Given the description of an element on the screen output the (x, y) to click on. 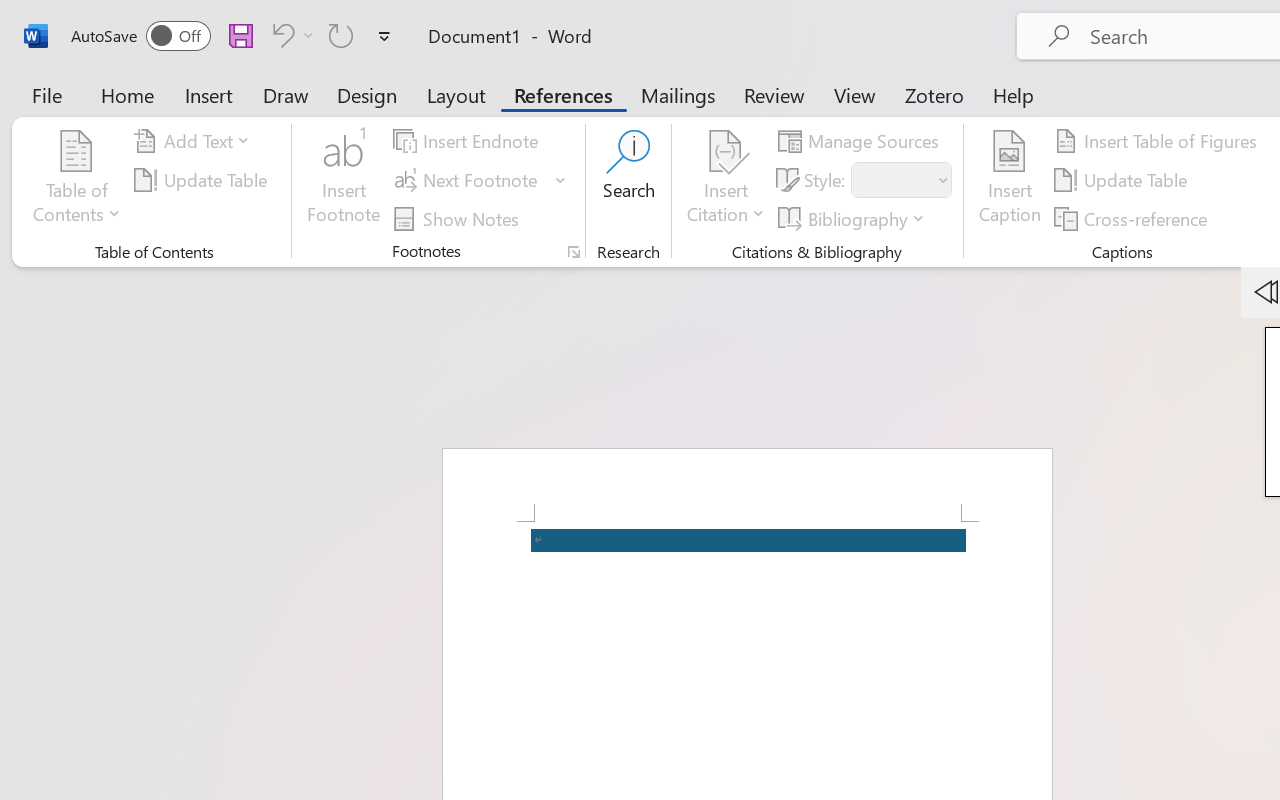
Insert Table of Figures... (1158, 141)
Next Footnote (479, 179)
Add Text (195, 141)
Bibliography (854, 218)
